Given the description of an element on the screen output the (x, y) to click on. 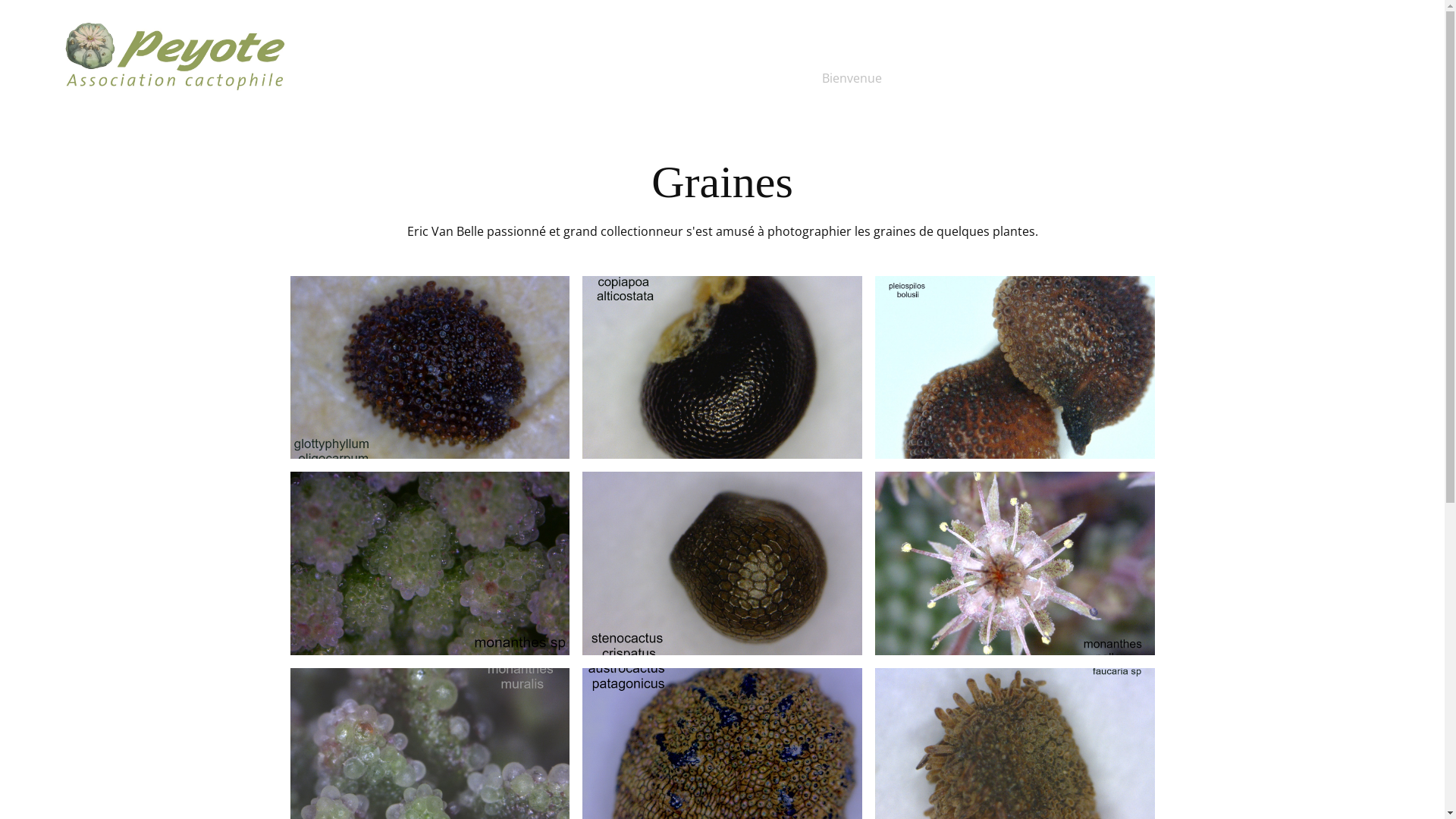
Bienvenue Element type: text (851, 77)
